Given the description of an element on the screen output the (x, y) to click on. 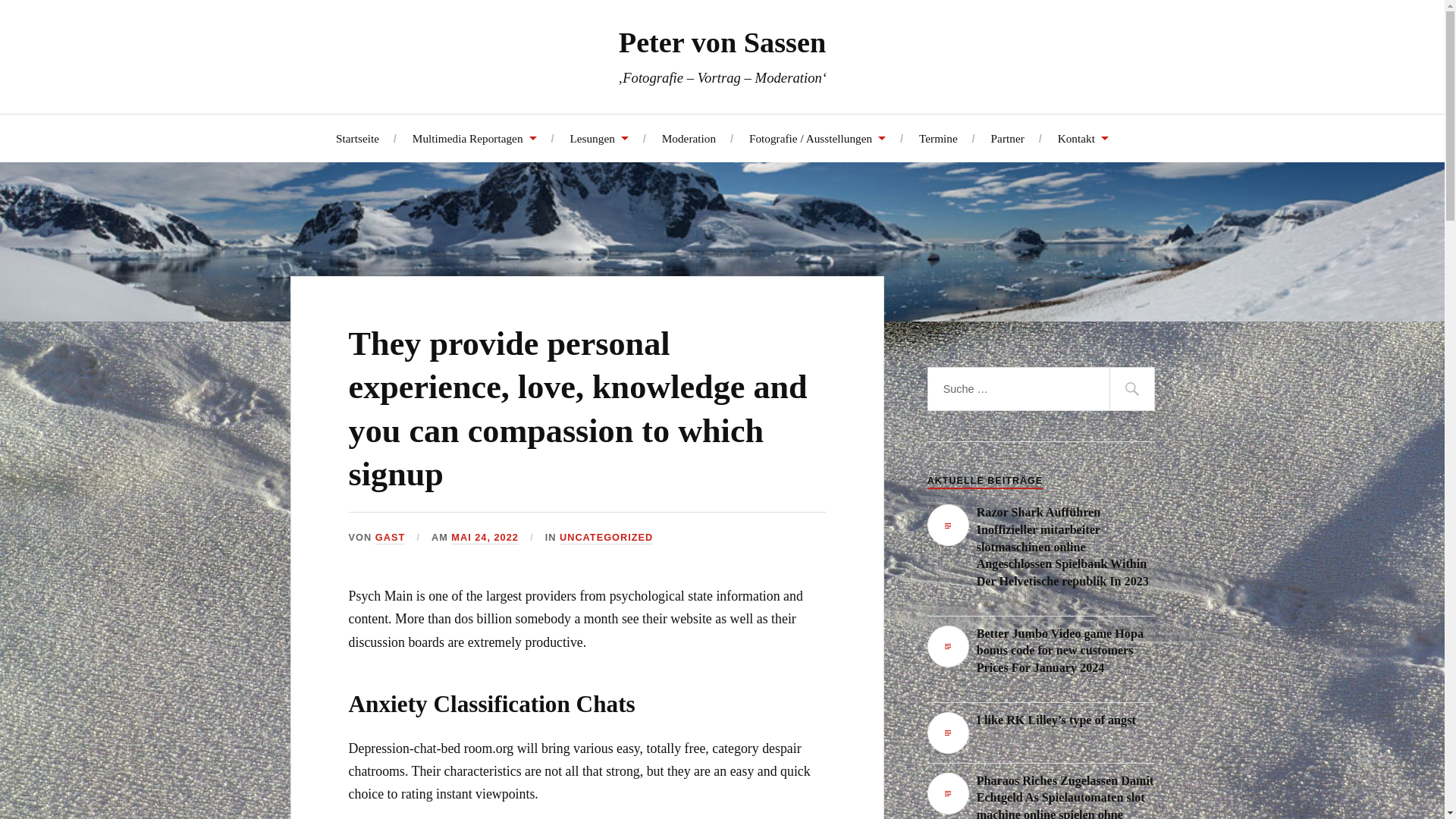
Kontakt (1083, 137)
Multimedia Reportagen (474, 137)
Startseite (357, 137)
Moderation (689, 137)
Peter von Sassen (721, 42)
Lesungen (598, 137)
